Given the description of an element on the screen output the (x, y) to click on. 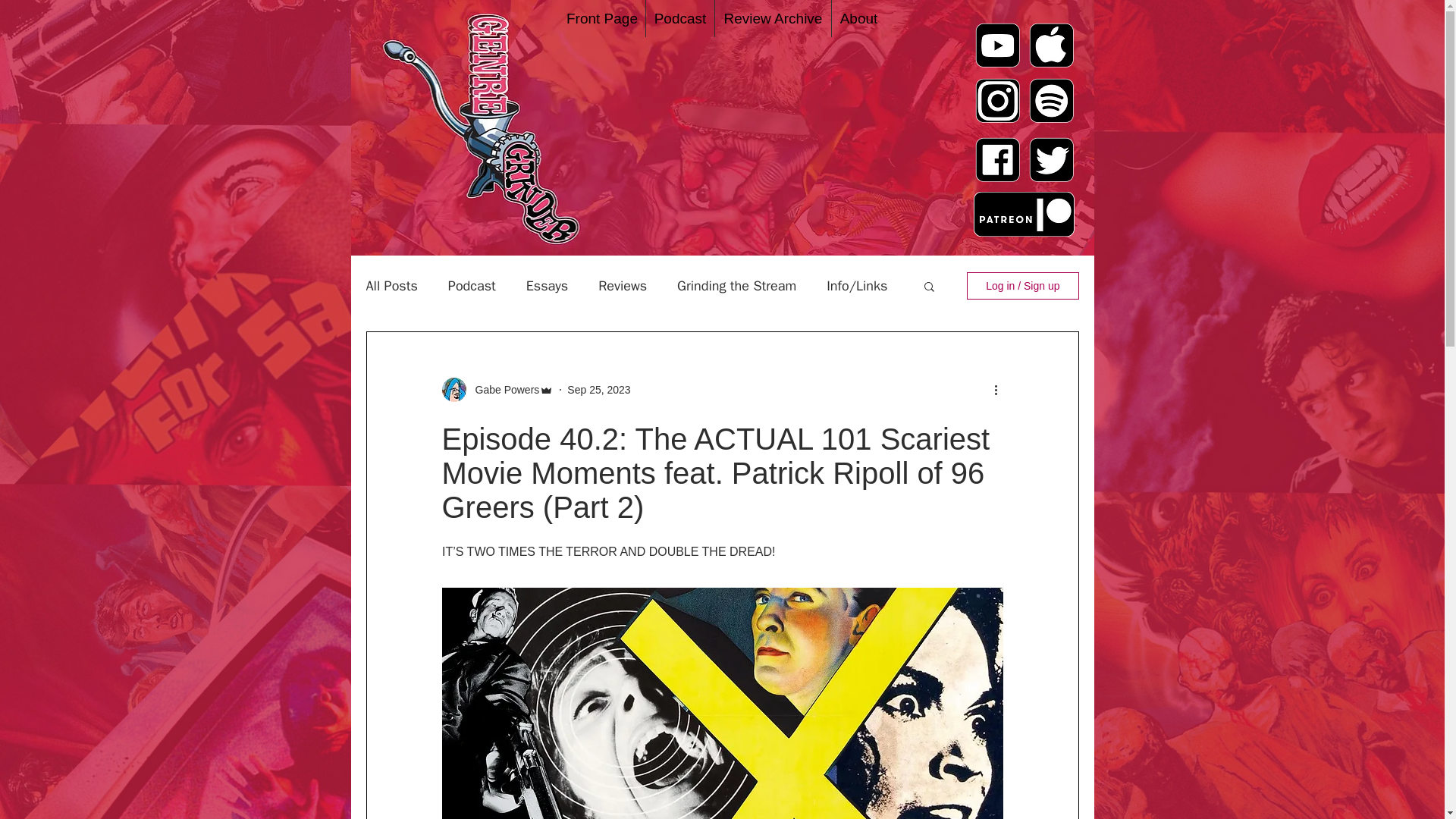
patreonbutton.png (1024, 213)
Review Archive (772, 18)
Reviews (622, 285)
Gabe Powers (501, 390)
Podcast (680, 18)
Grinding the Stream (736, 285)
Sep 25, 2023 (598, 389)
Podcast (472, 285)
All Posts (390, 285)
Essays (546, 285)
About (858, 18)
Front Page (602, 18)
